Given the description of an element on the screen output the (x, y) to click on. 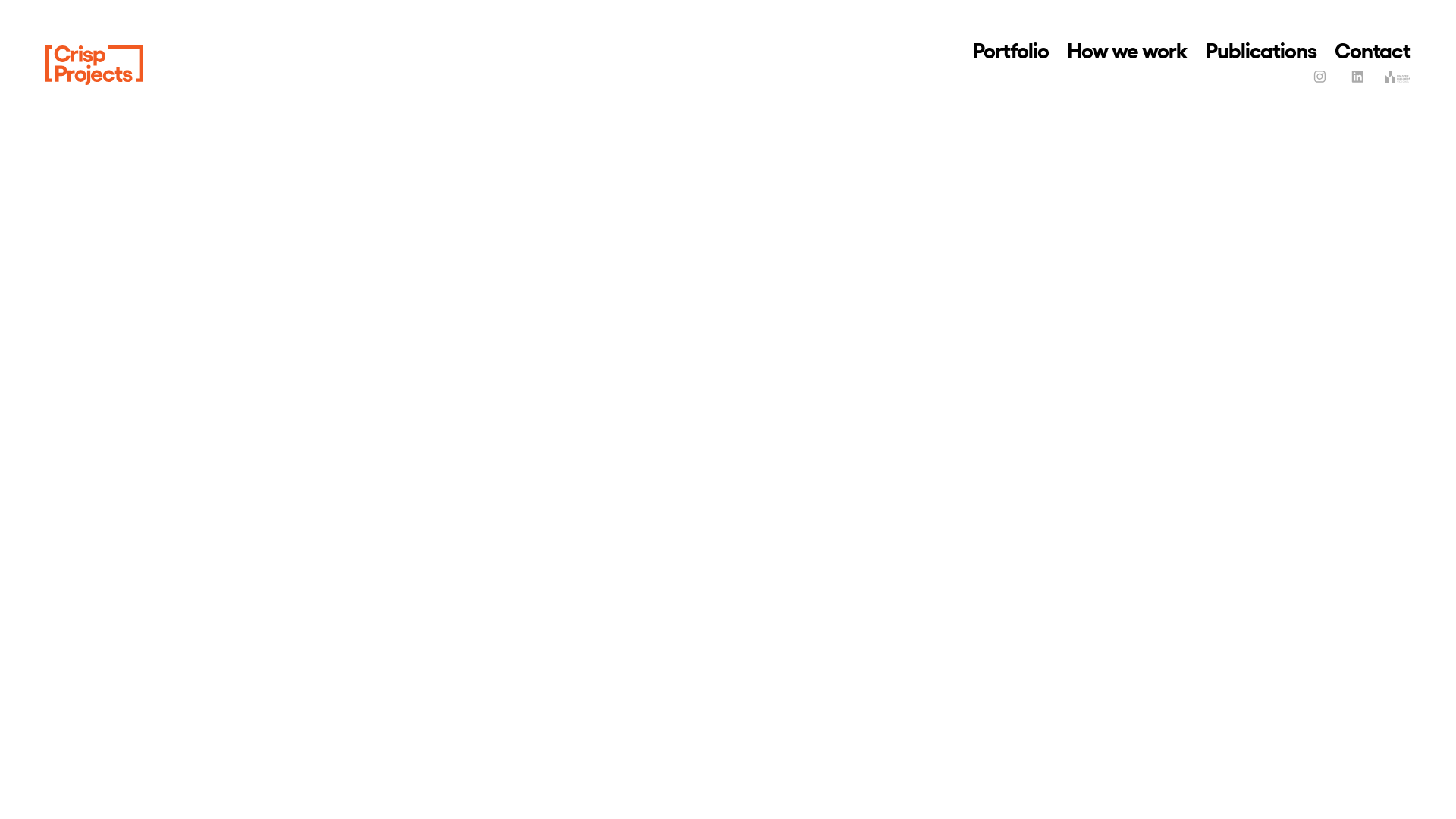
> Element type: text (93, 64)
How we work Element type: text (1126, 48)
